Given the description of an element on the screen output the (x, y) to click on. 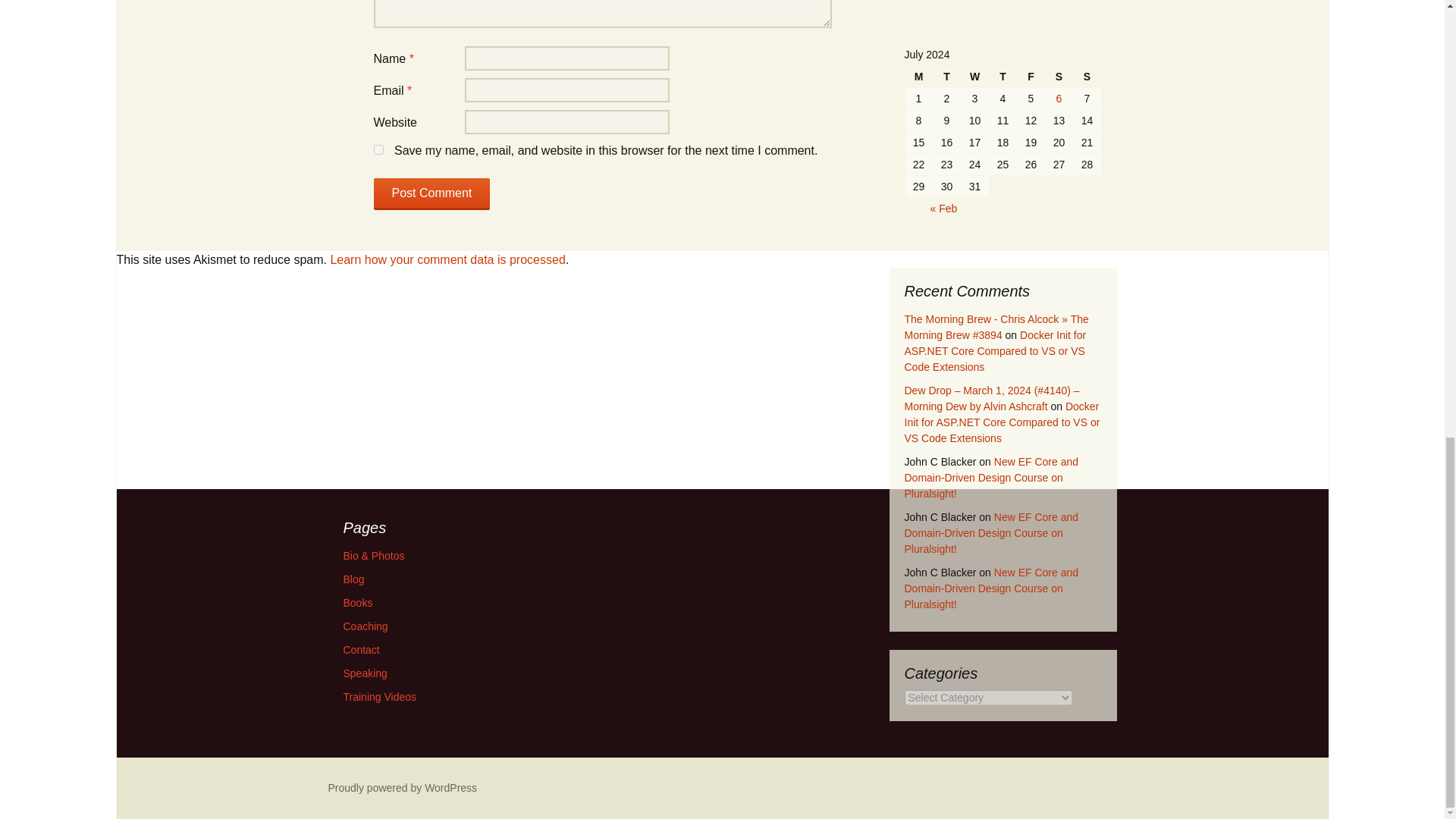
Post Comment (430, 193)
Thursday (1002, 76)
Friday (1031, 76)
Tuesday (946, 76)
Post Comment (430, 193)
Sunday (1087, 76)
Learn how your comment data is processed (447, 259)
Monday (919, 76)
Saturday (1058, 76)
yes (377, 149)
Wednesday (974, 76)
